Given the description of an element on the screen output the (x, y) to click on. 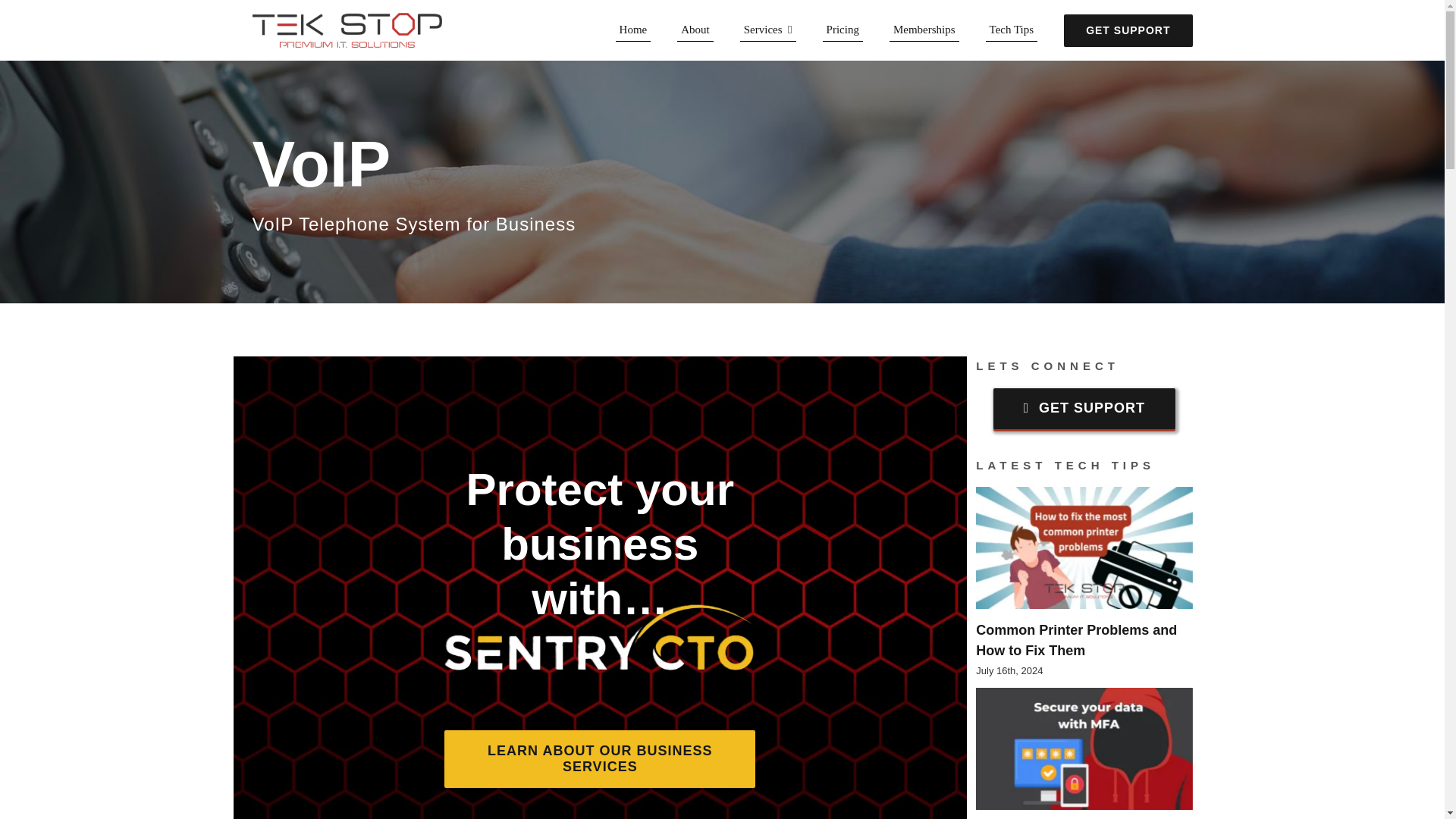
Pricing (842, 29)
Memberships (924, 29)
LEARN ABOUT OUR BUSINESS SERVICES (599, 758)
GET SUPPORT (1083, 408)
Services (767, 29)
Tech Tips (1011, 29)
Home (632, 29)
Sentry CTO Cybersecurity Services (599, 638)
About (695, 29)
Common Printer Problems and How to Fix Them (1075, 640)
GET SUPPORT (1128, 29)
